Given the description of an element on the screen output the (x, y) to click on. 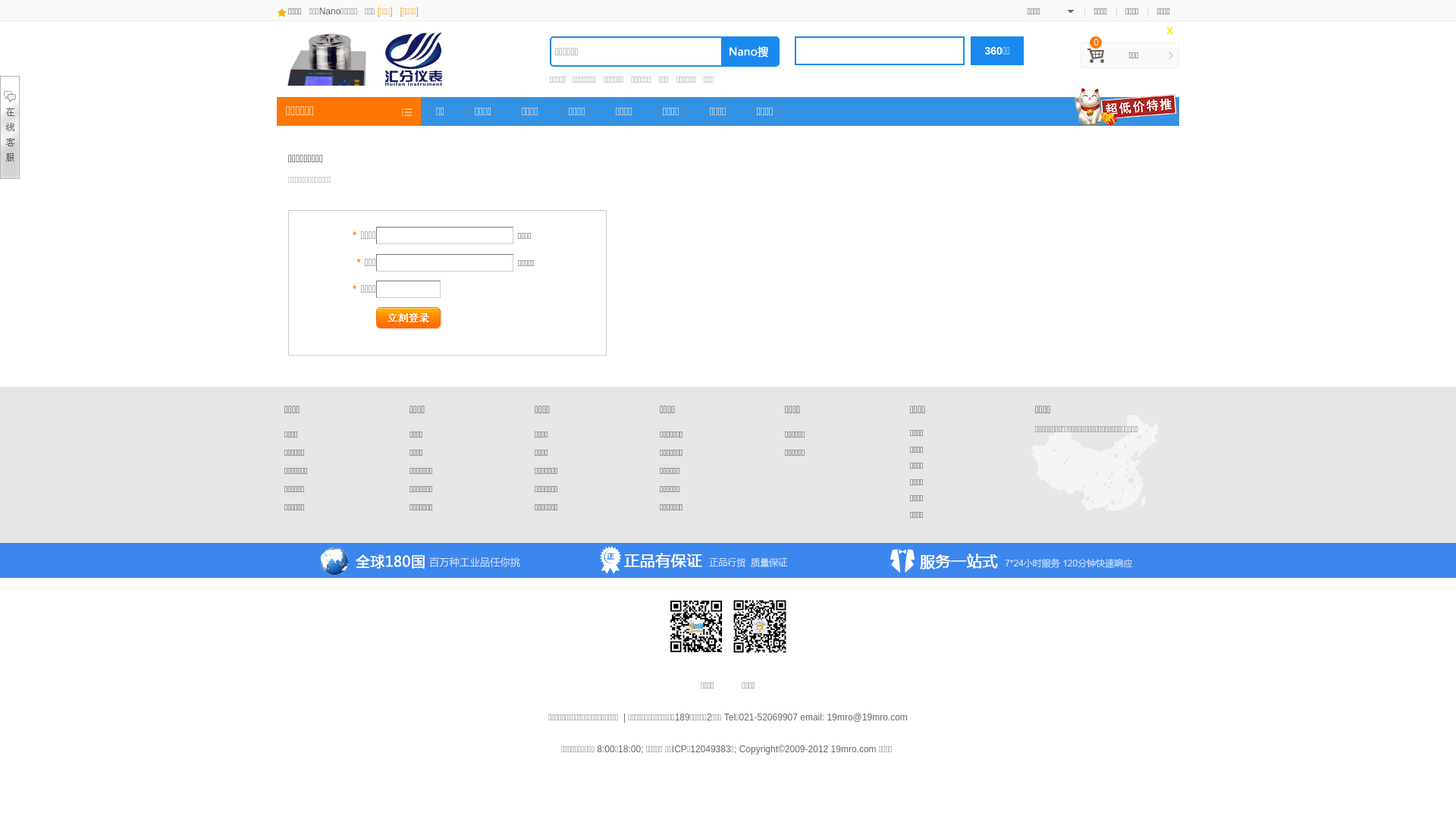
x Element type: text (1169, 30)
